Given the description of an element on the screen output the (x, y) to click on. 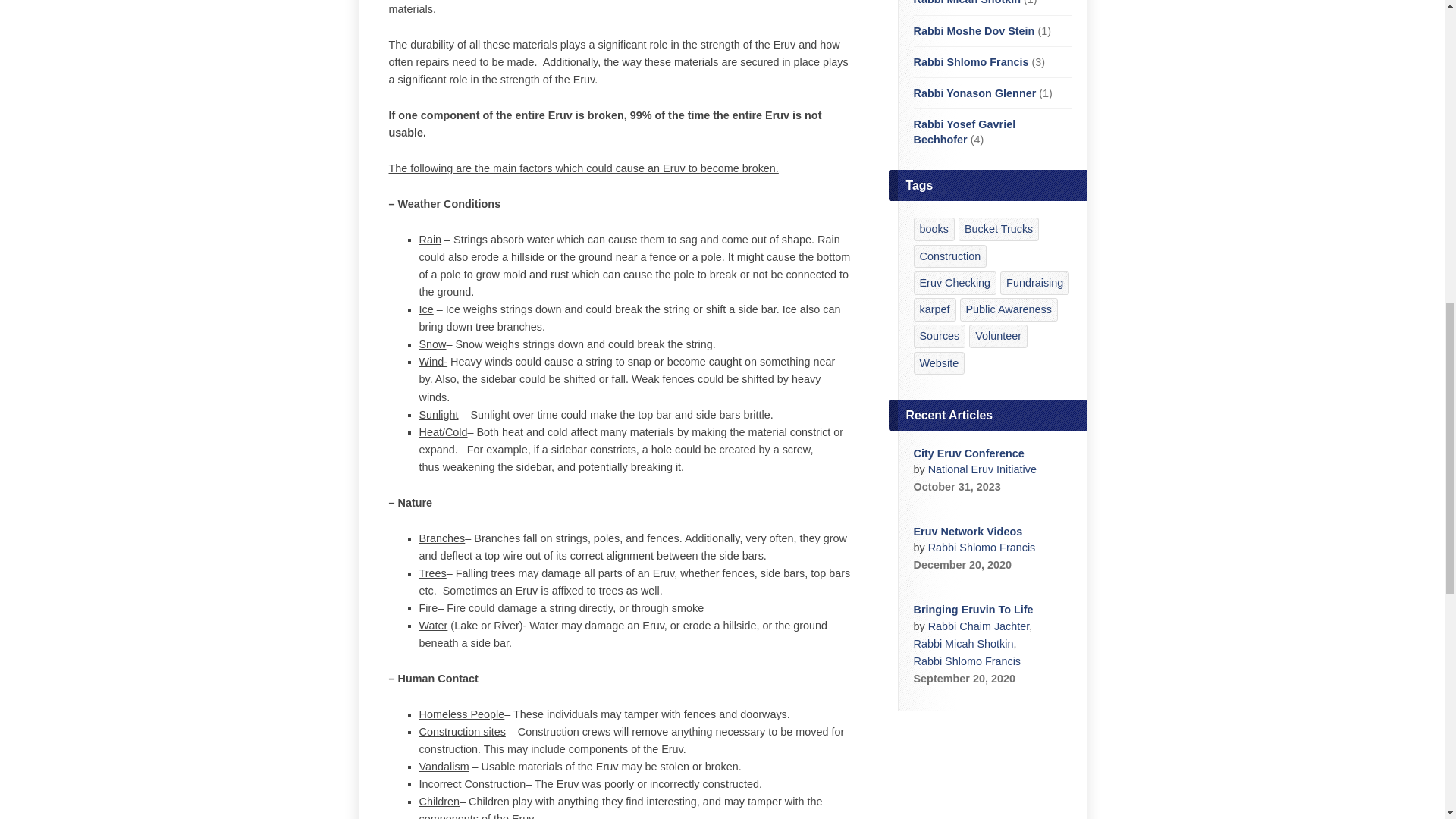
Eruv Network Videos (967, 531)
City Eruv Conference (967, 453)
Bringing Eruvin To Life (972, 609)
